Given the description of an element on the screen output the (x, y) to click on. 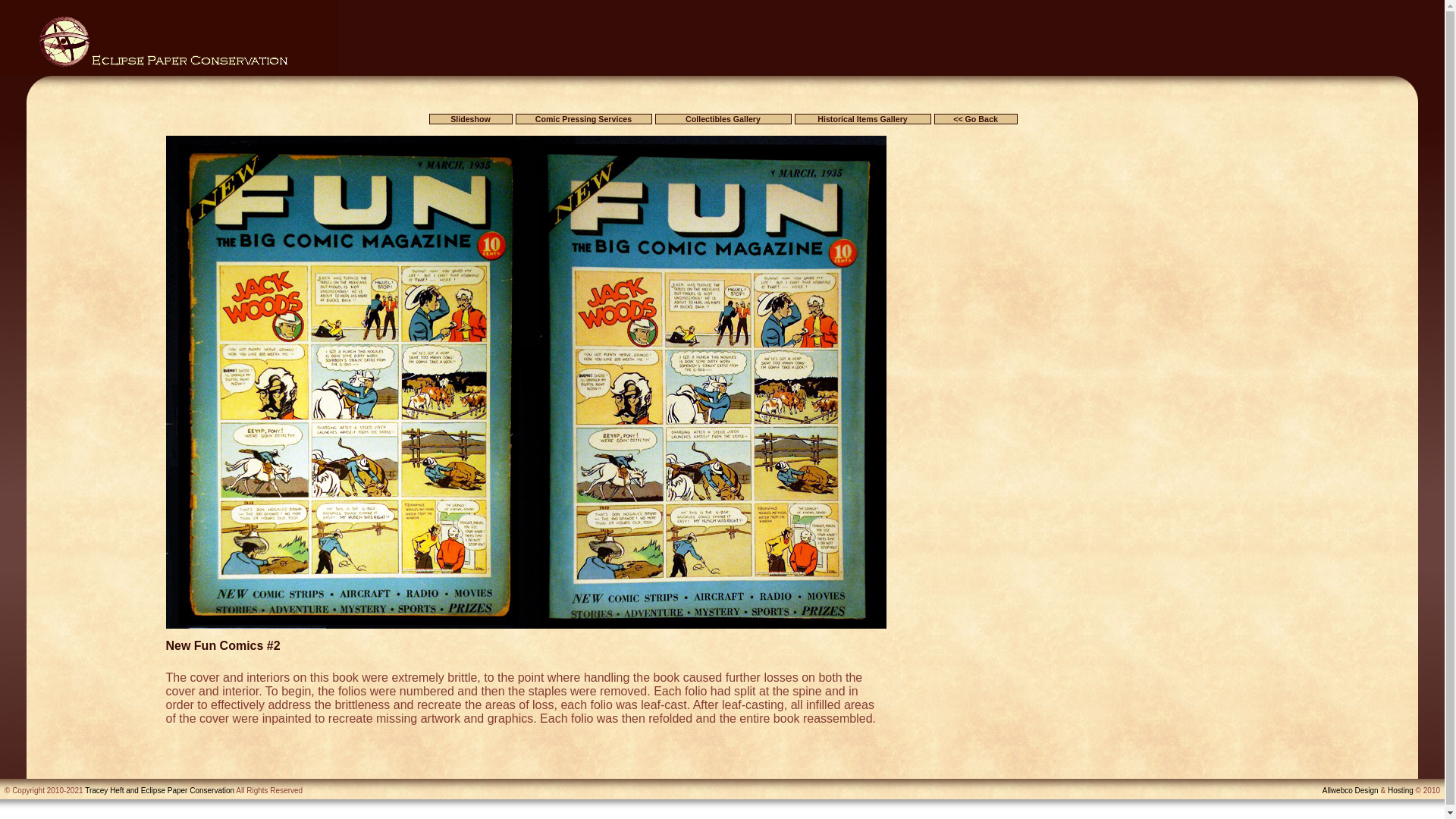
Tracey Heft and Eclipse Paper Conservation (159, 790)
Hosting (1400, 790)
Historical Items Gallery (862, 118)
Allwebco Design (1350, 790)
Collectibles Gallery (723, 118)
Slideshow (470, 118)
Comic Pressing Services (583, 118)
